Given the description of an element on the screen output the (x, y) to click on. 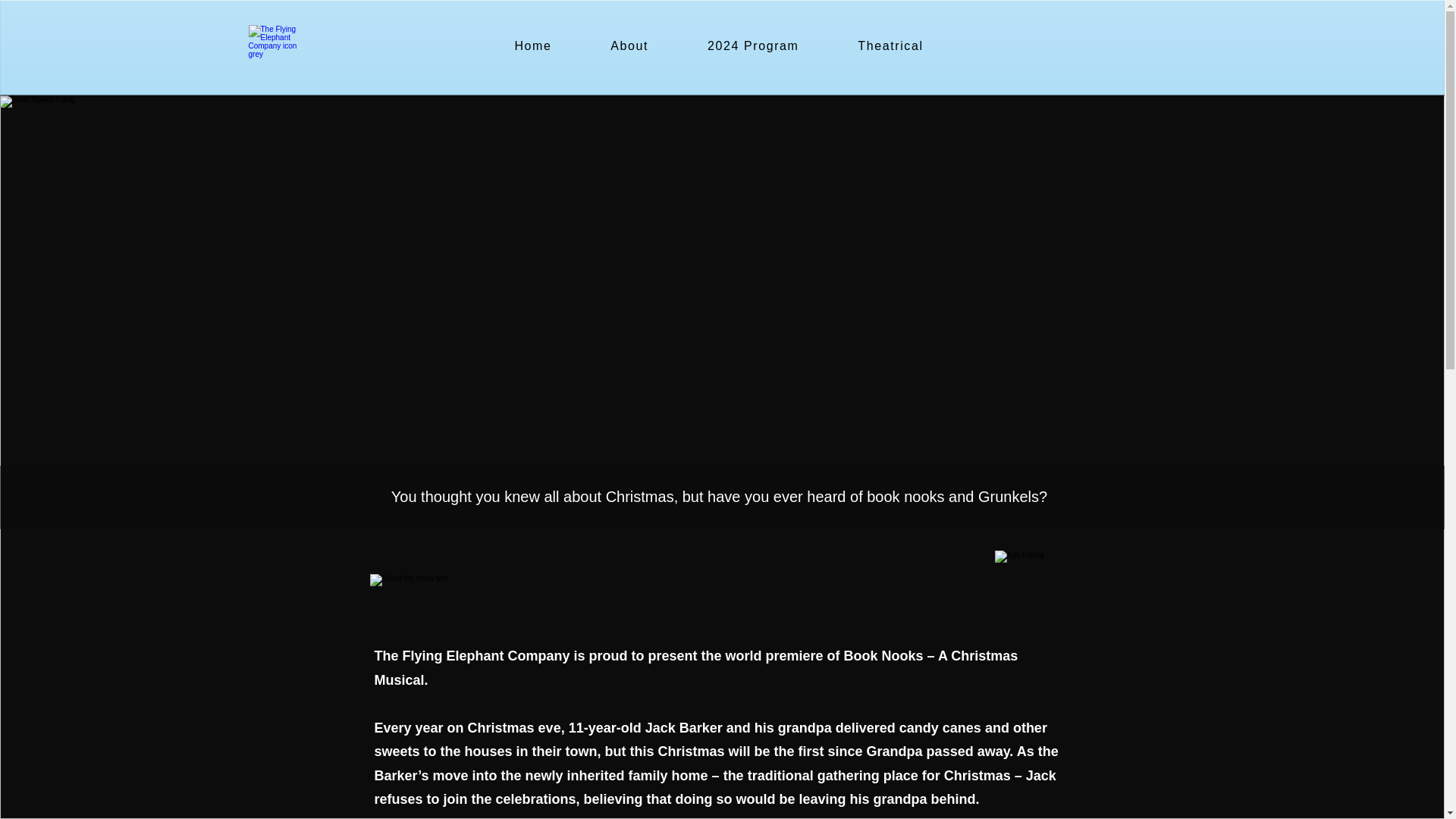
Home (532, 46)
2024 Program (753, 46)
Theatrical (890, 46)
About (629, 46)
